Given the description of an element on the screen output the (x, y) to click on. 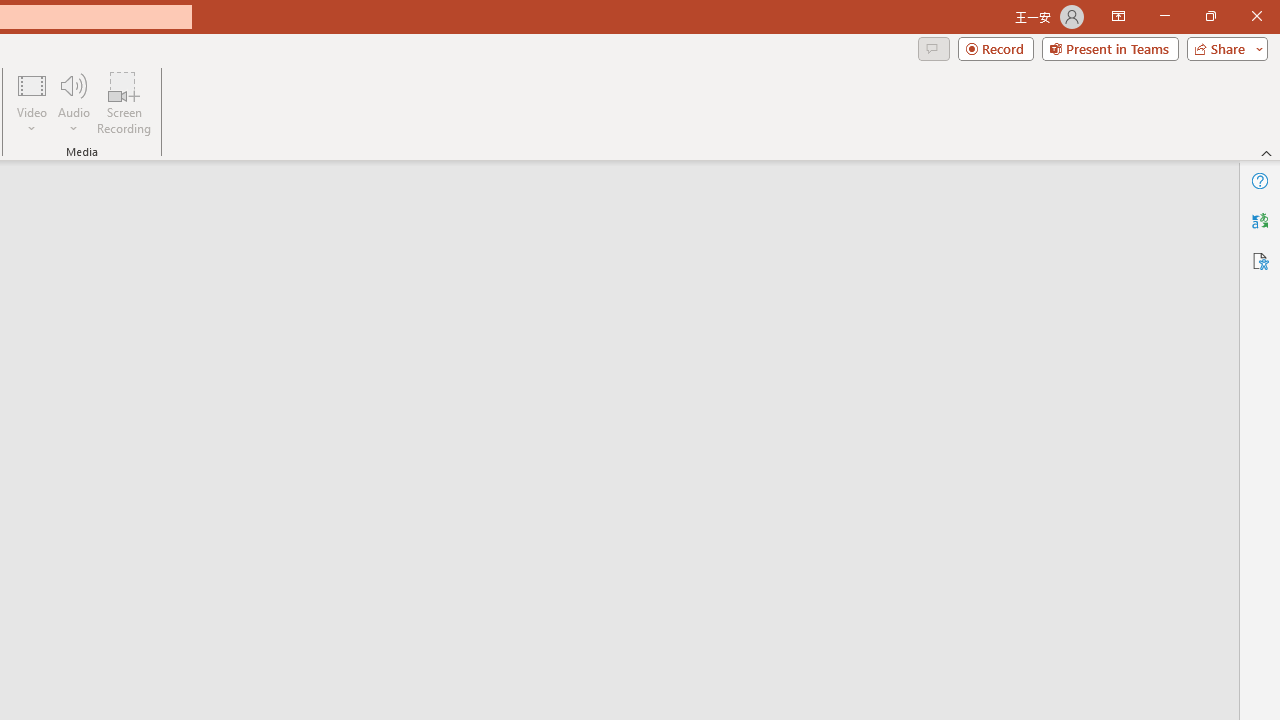
Video (31, 102)
